Given the description of an element on the screen output the (x, y) to click on. 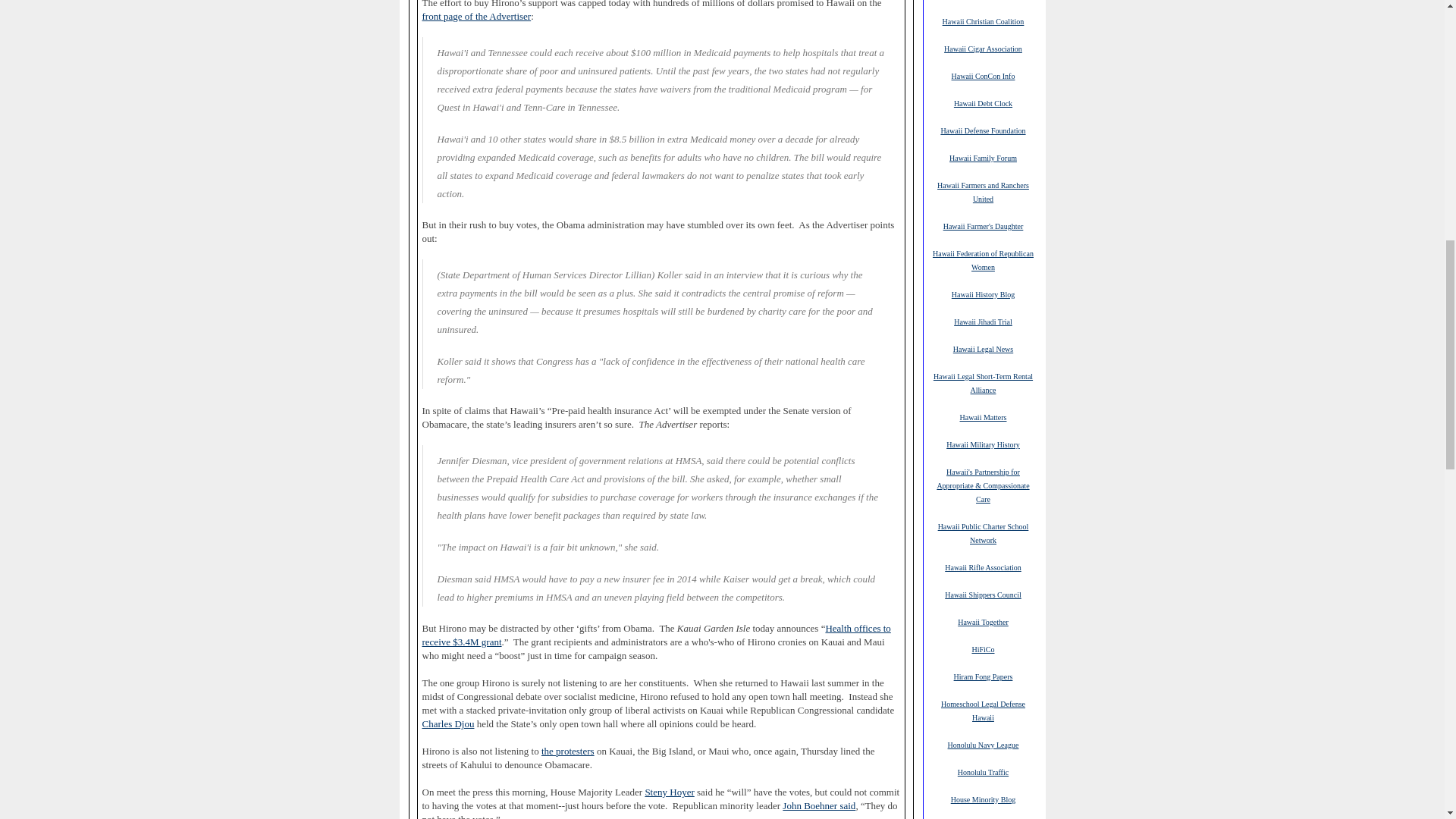
John Boehner said (819, 805)
front page of the Advertiser (476, 16)
Charles Djou (448, 724)
Steny Hoyer (669, 792)
the protesters (567, 751)
